Given the description of an element on the screen output the (x, y) to click on. 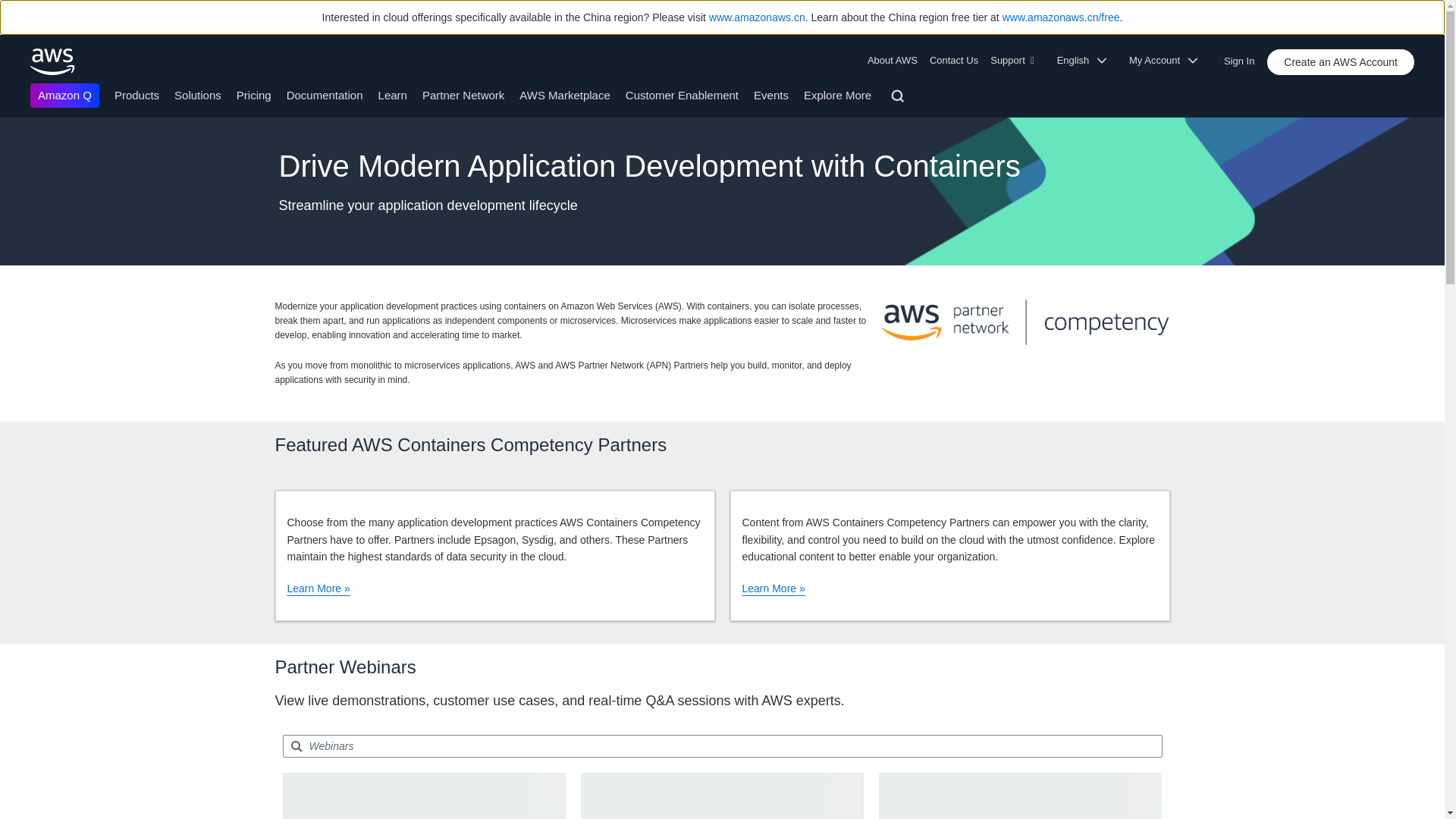
AWS Partner Network Competency (1024, 321)
My Account   (1168, 60)
AWS Marketplace (564, 94)
Partner Network (462, 94)
Click here to return to Amazon Web Services homepage (52, 61)
Sign In (1243, 58)
Contact Us (953, 60)
Solutions (197, 94)
Explore More (836, 94)
Skip to main content (7, 124)
